Given the description of an element on the screen output the (x, y) to click on. 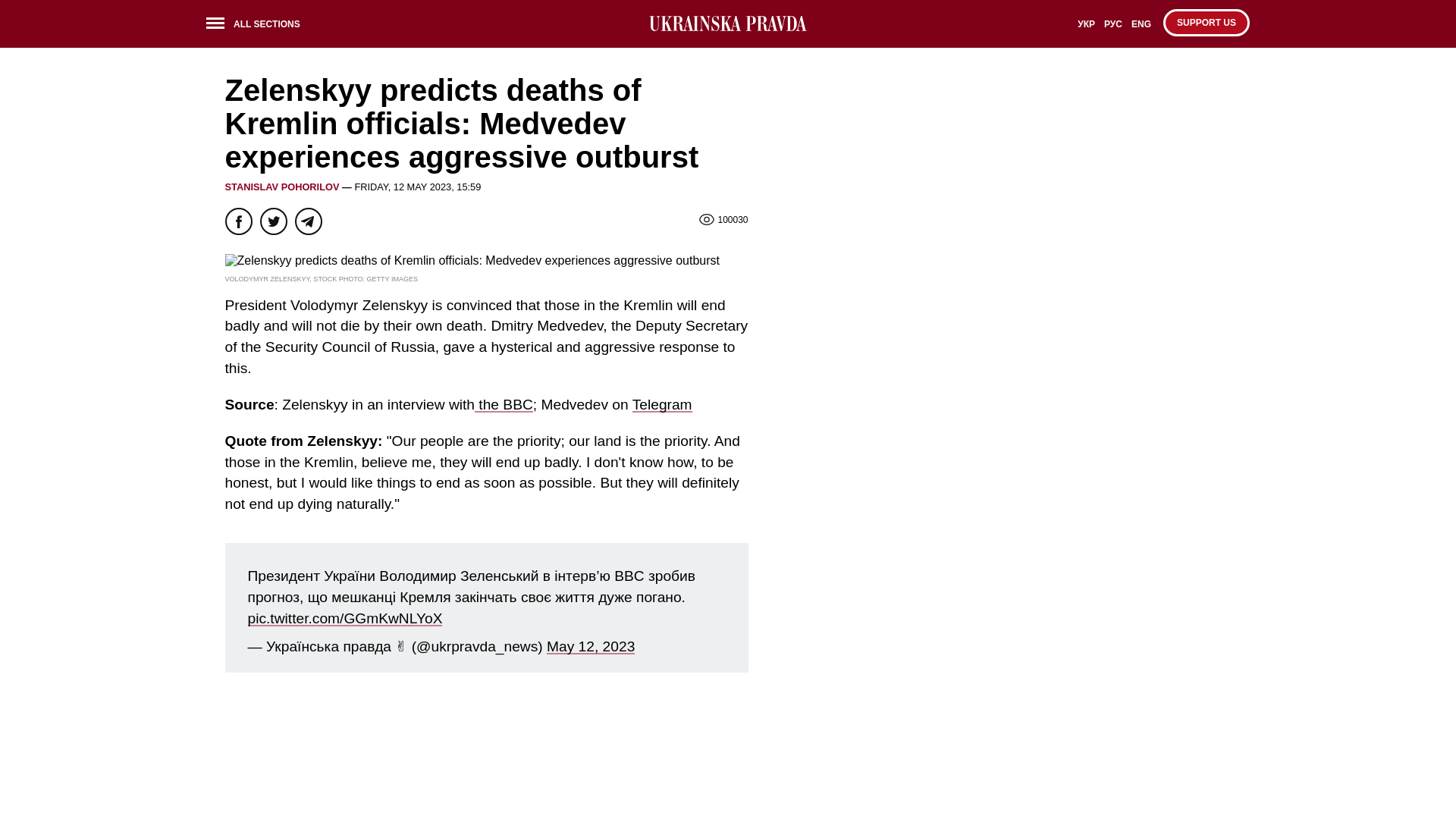
Ukrainska pravda (727, 23)
ALL SECTIONS (257, 26)
Ukrainska pravda (727, 24)
Telegram (662, 404)
ENG (1141, 28)
the BBC (503, 404)
May 12, 2023 (590, 646)
SUPPORT US (1206, 22)
STANISLAV POHORILOV (281, 186)
